Given the description of an element on the screen output the (x, y) to click on. 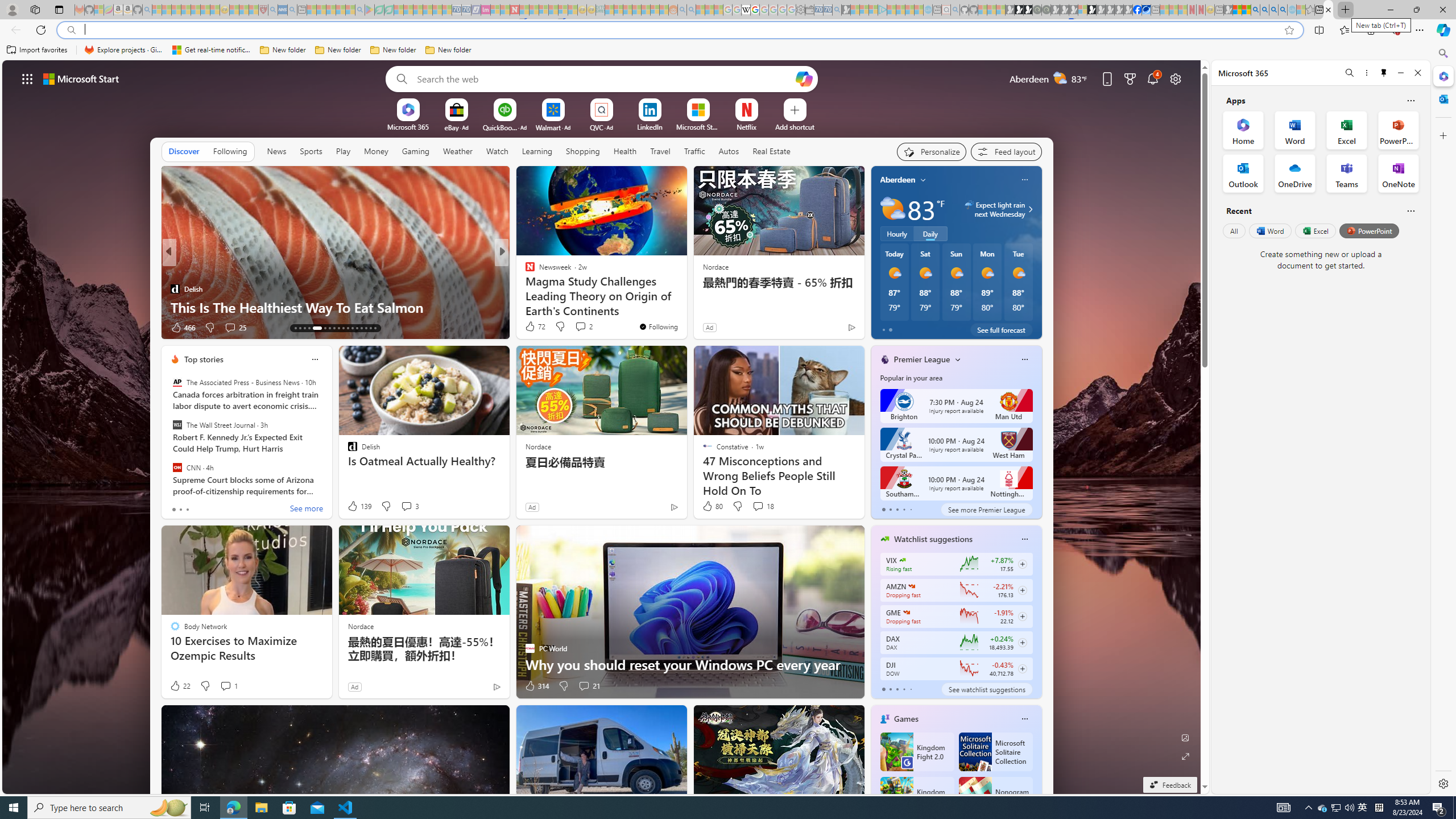
Teams Office App (1346, 172)
Hourly (896, 233)
Sports (310, 151)
Expand background (1185, 756)
tab-3 (903, 689)
Recipes - MSN - Sleeping (234, 9)
Weather (457, 151)
Netflix (746, 126)
14 Common Myths Debunked By Scientific Facts - Sleeping (533, 9)
More options (1366, 72)
